Given the description of an element on the screen output the (x, y) to click on. 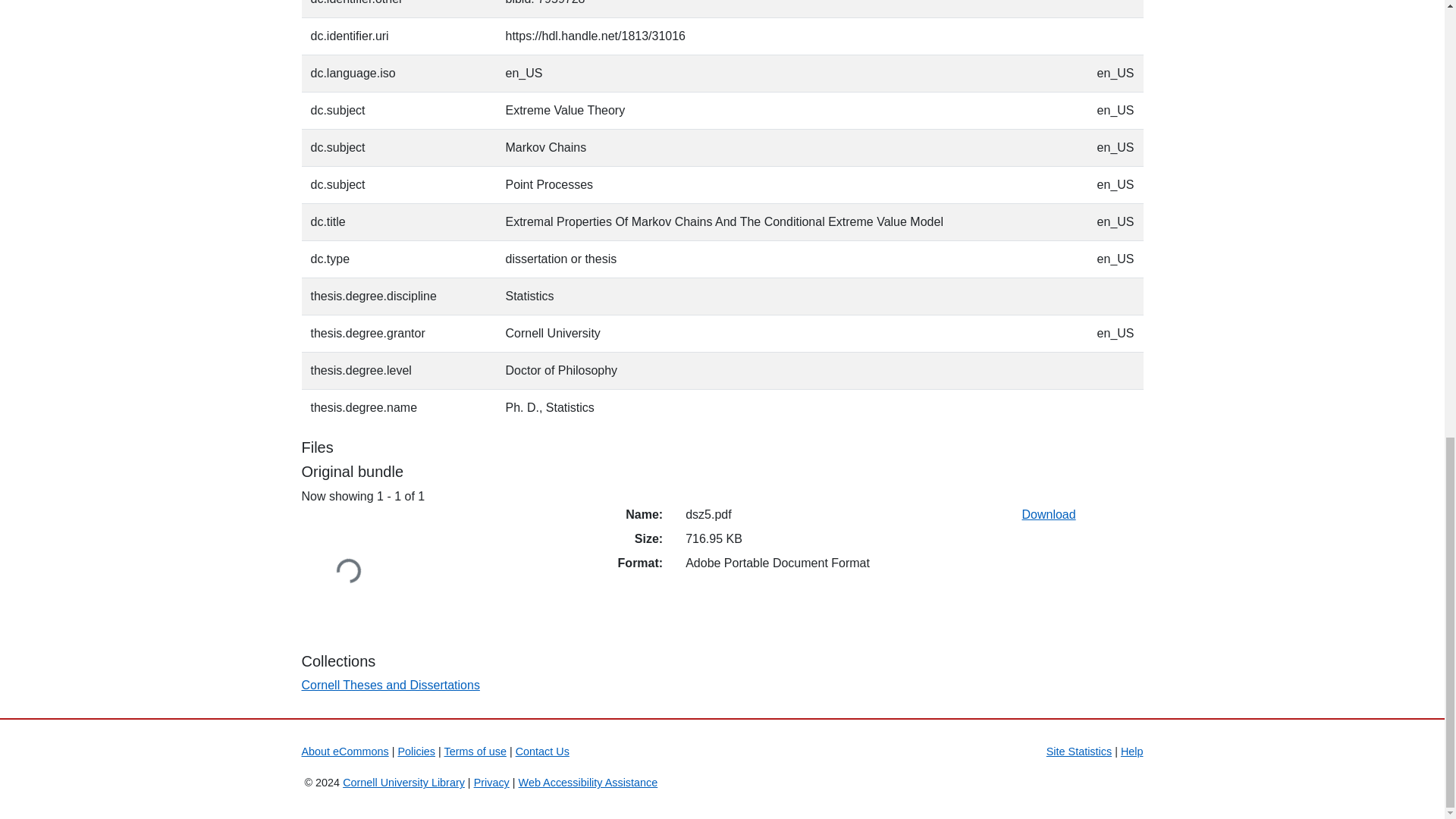
Terms of use (475, 751)
Privacy (491, 782)
Site Statistics (1079, 751)
Contact Us (542, 751)
Cornell University Library (403, 782)
Policies (416, 751)
Help (1131, 751)
Web Accessibility Assistance (588, 782)
Cornell Theses and Dissertations (390, 684)
Download (1048, 513)
